Given the description of an element on the screen output the (x, y) to click on. 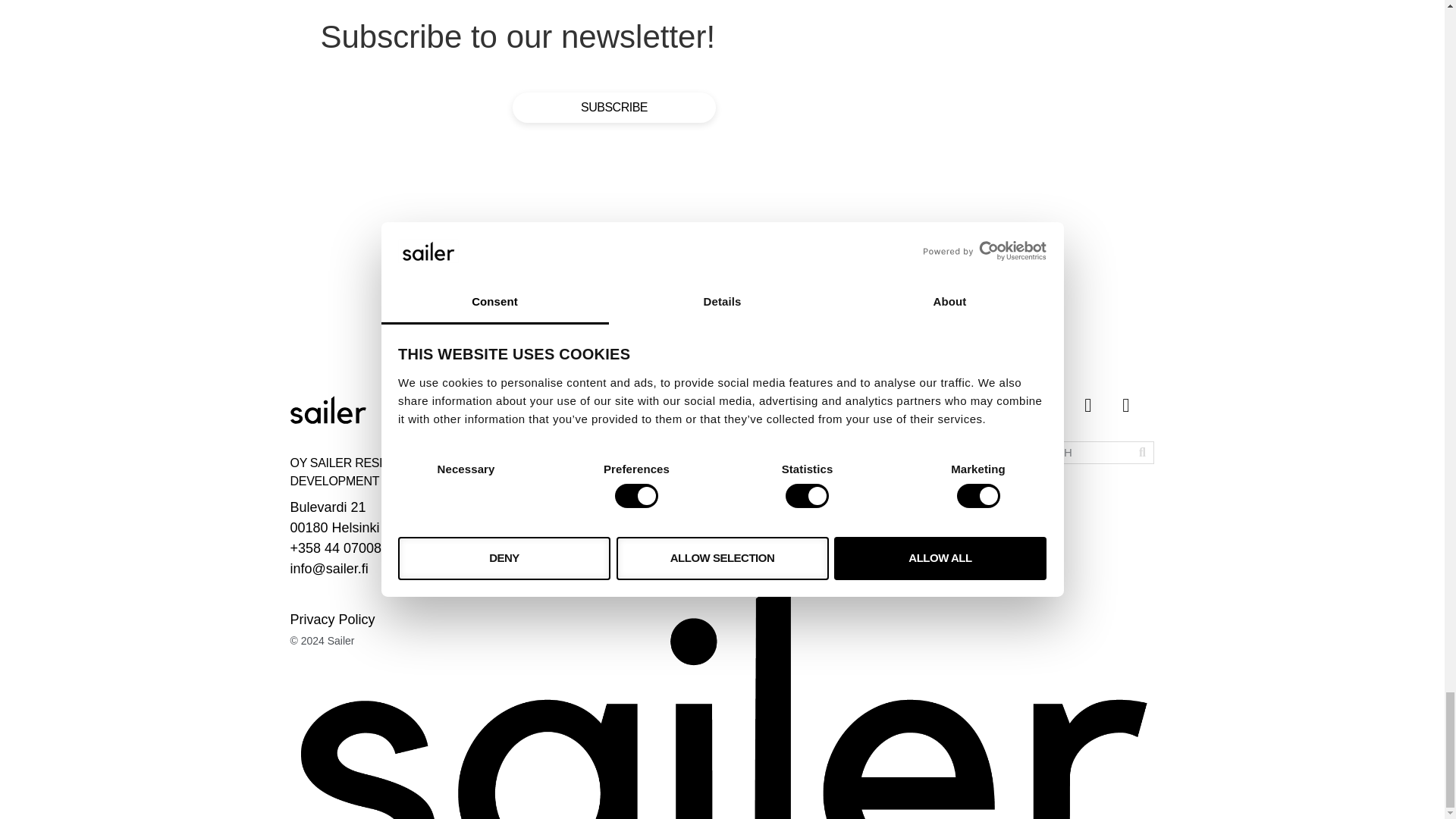
Search (1073, 452)
Search (1142, 452)
sailer-logo (327, 410)
